Given the description of an element on the screen output the (x, y) to click on. 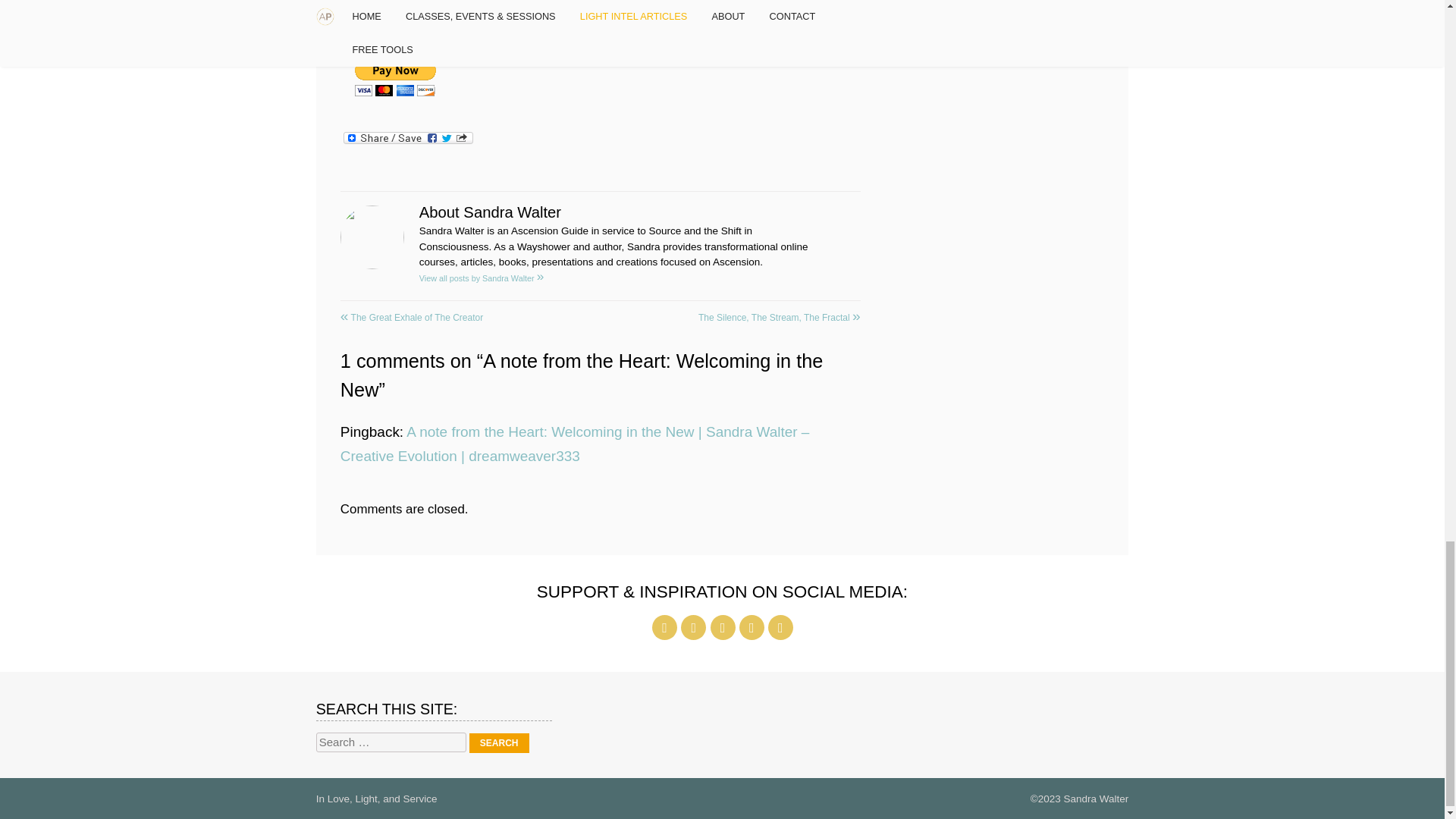
Search (498, 742)
